Given the description of an element on the screen output the (x, y) to click on. 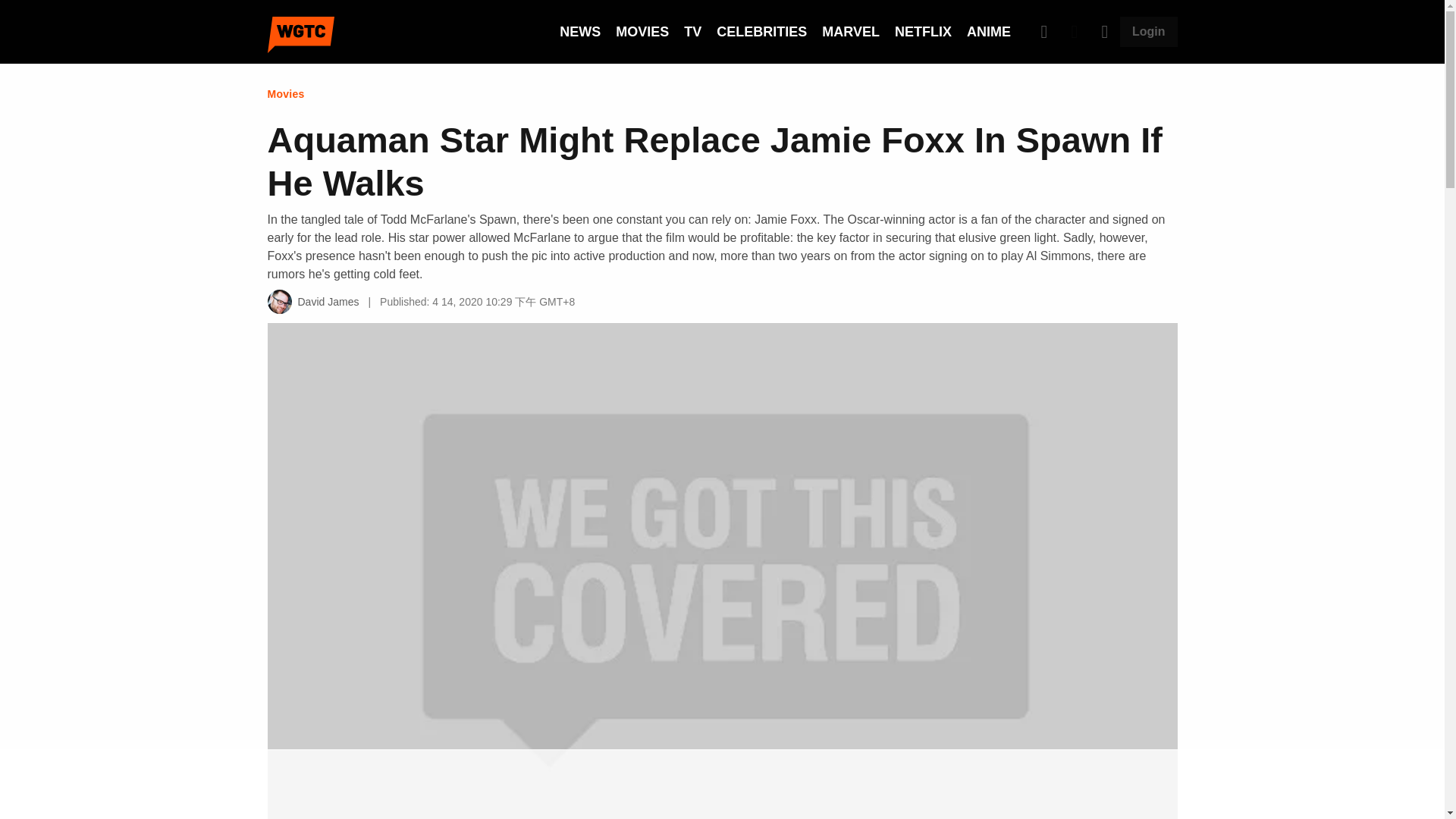
ANIME (988, 31)
Expand Menu (1104, 31)
NEWS (579, 31)
Search (1044, 31)
TV (692, 31)
Login (1148, 31)
Dark Mode (1074, 31)
CELEBRITIES (761, 31)
MOVIES (641, 31)
3rd party ad content (721, 785)
MARVEL (850, 31)
NETFLIX (923, 31)
